Given the description of an element on the screen output the (x, y) to click on. 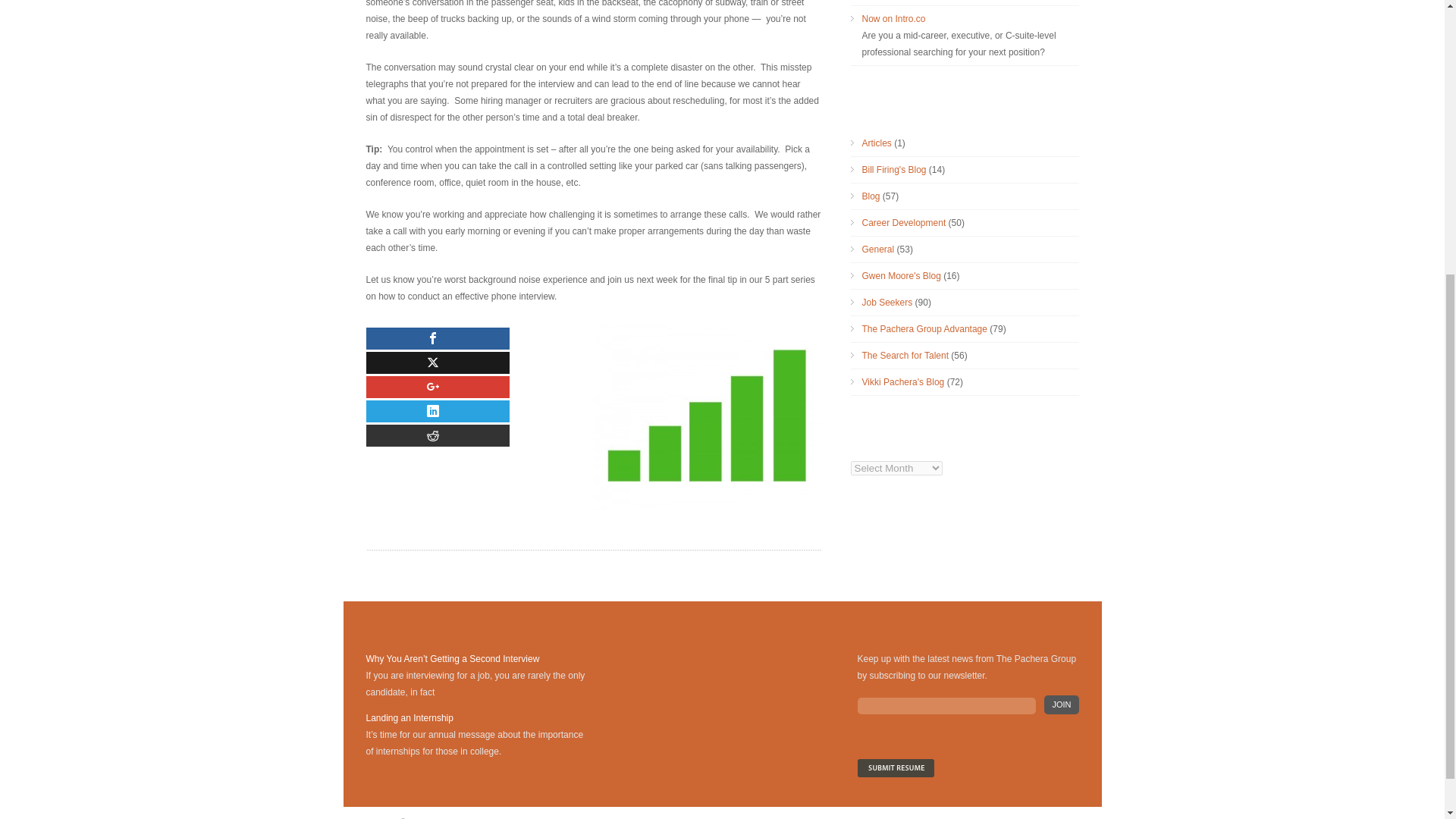
General (877, 249)
Permanent Link to Now on Intro.co (892, 18)
Linkedin (436, 411)
Bill Firing's Blog (893, 169)
Google (436, 386)
Career Development (902, 222)
Blog (870, 195)
The Search for Talent (905, 355)
Join (1060, 704)
Now on Intro.co (892, 18)
